Given the description of an element on the screen output the (x, y) to click on. 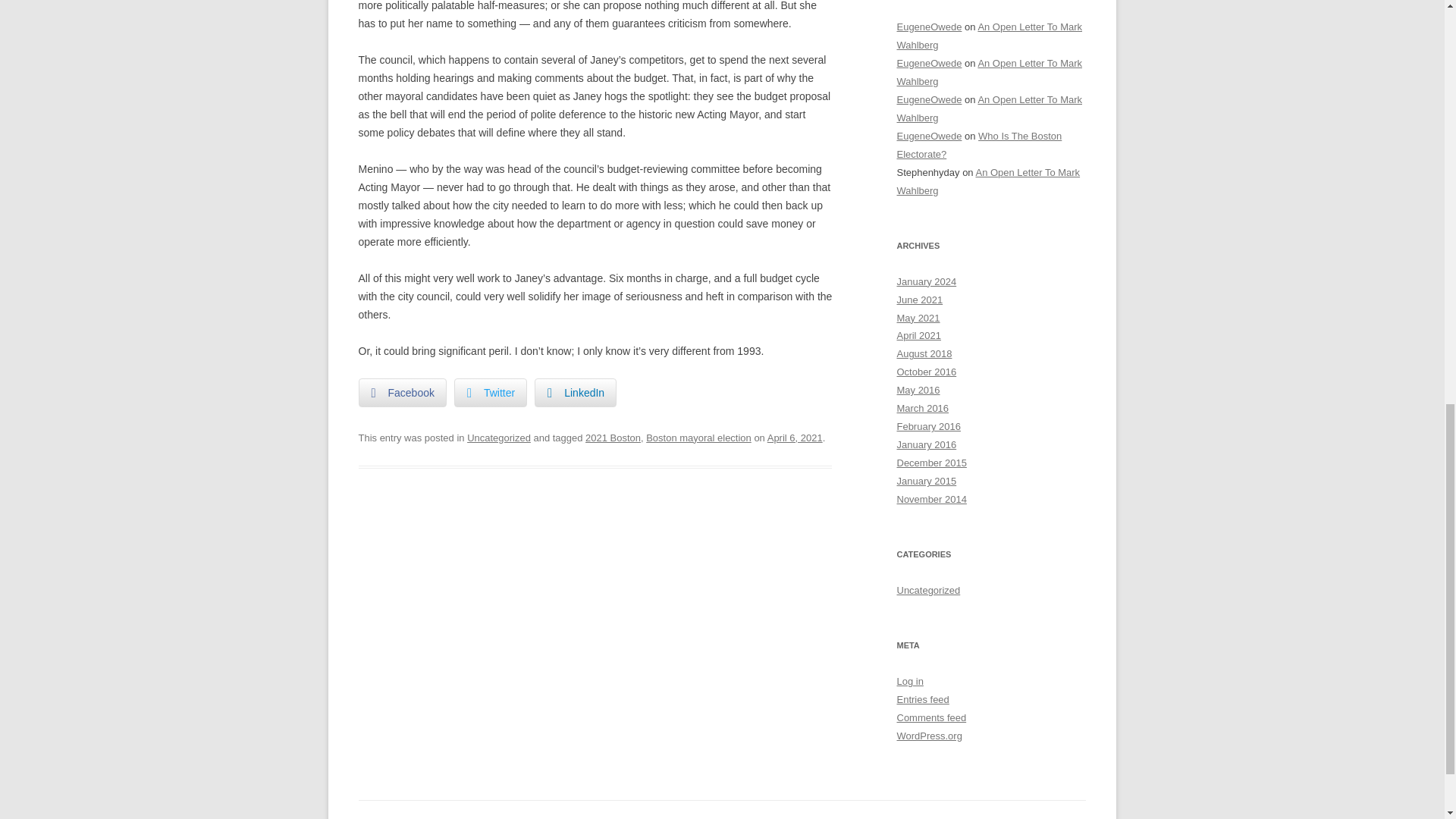
LinkedIn (574, 392)
7:37 pm (794, 437)
May 2021 (917, 317)
An Open Letter To Mark Wahlberg (988, 108)
2021 Boston (612, 437)
An Open Letter To Mark Wahlberg (988, 181)
April 6, 2021 (794, 437)
EugeneOwede (928, 26)
June 2021 (919, 299)
August 2018 (924, 353)
